Given the description of an element on the screen output the (x, y) to click on. 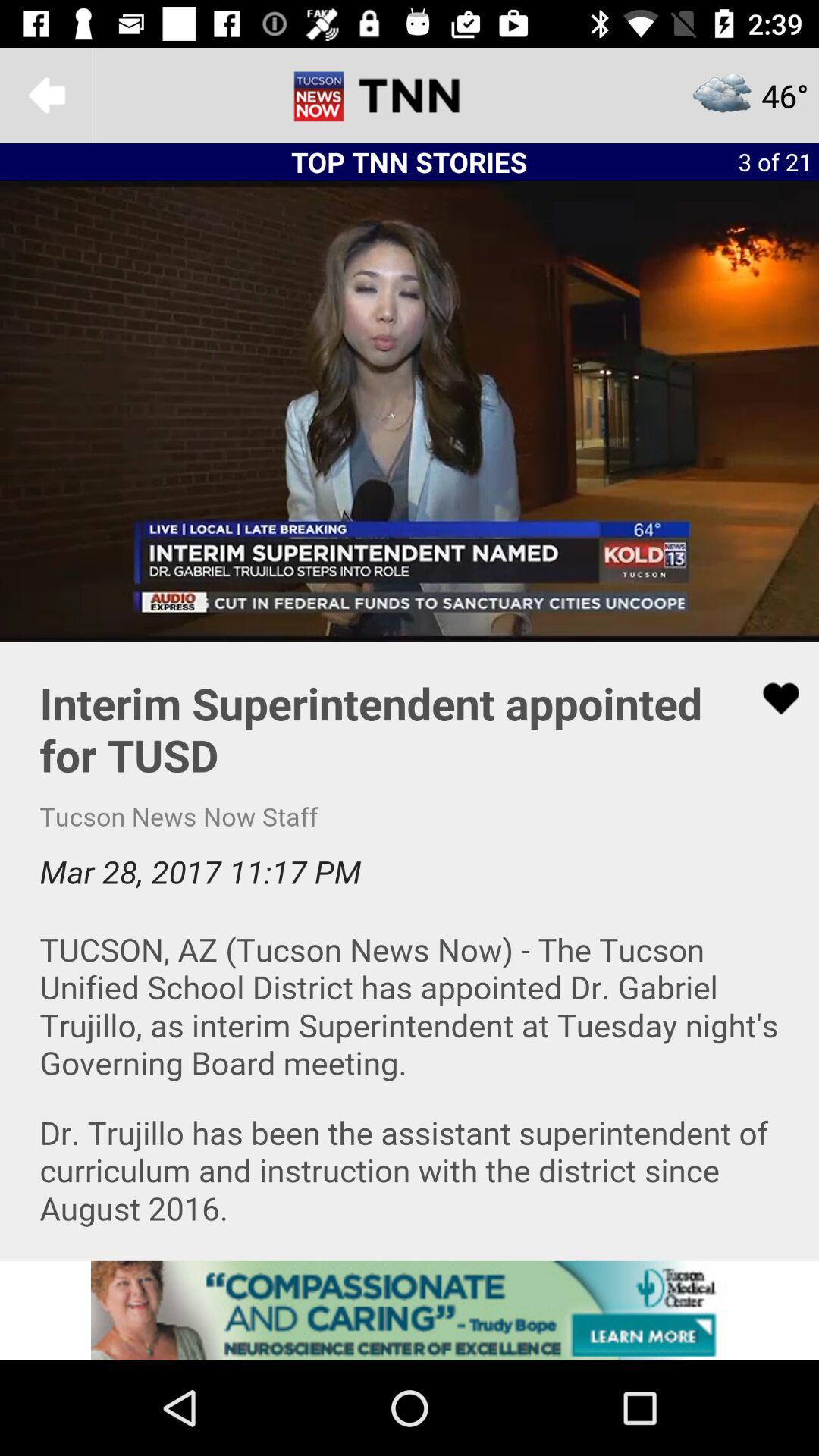
transcript of article (409, 950)
